Given the description of an element on the screen output the (x, y) to click on. 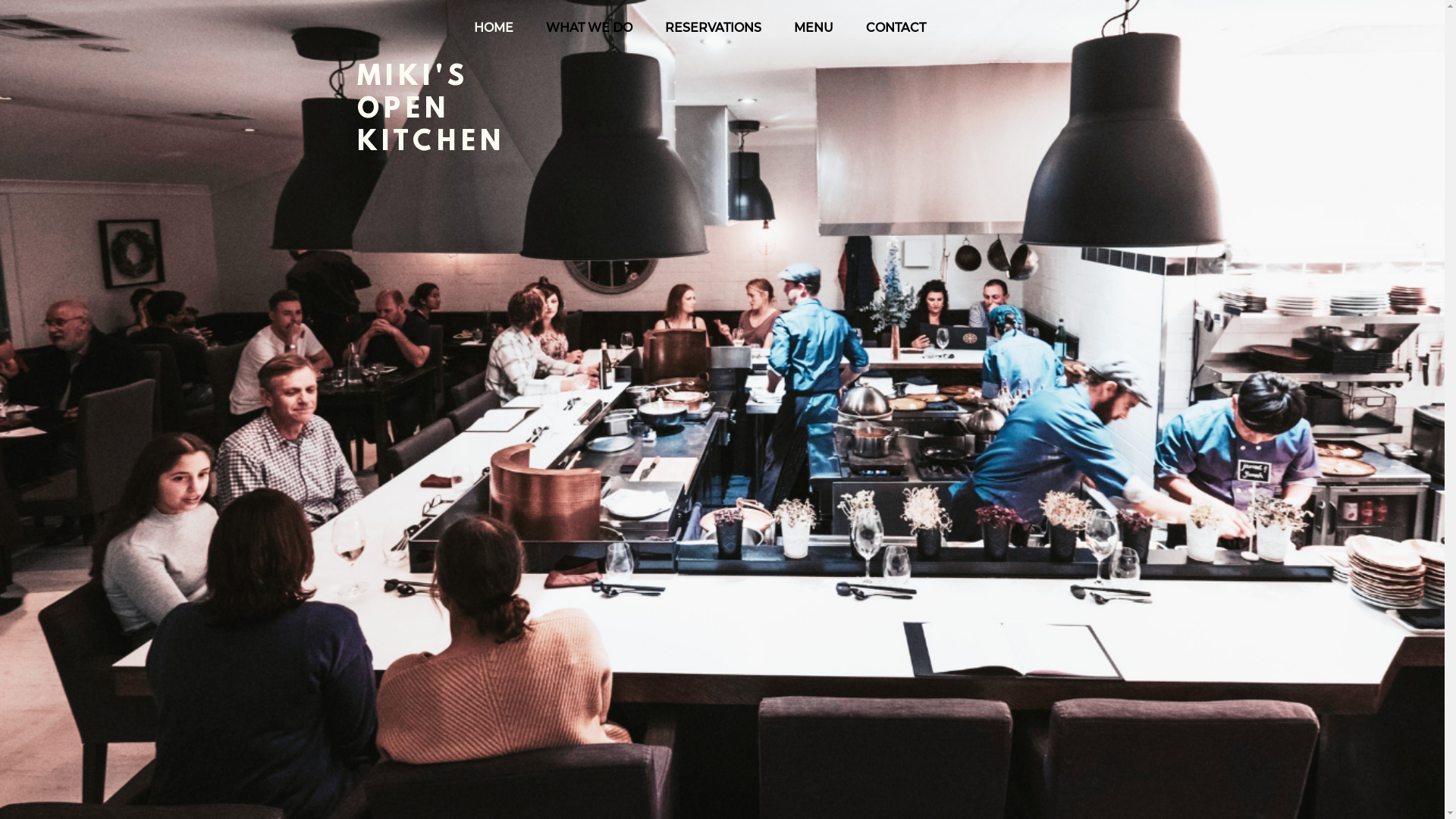
WHAT WE DO Element type: text (588, 28)
CONTACT Element type: text (895, 28)
RESERVATIONS Element type: text (713, 28)
MENU Element type: text (814, 28)
HOME Element type: text (492, 28)
